Given the description of an element on the screen output the (x, y) to click on. 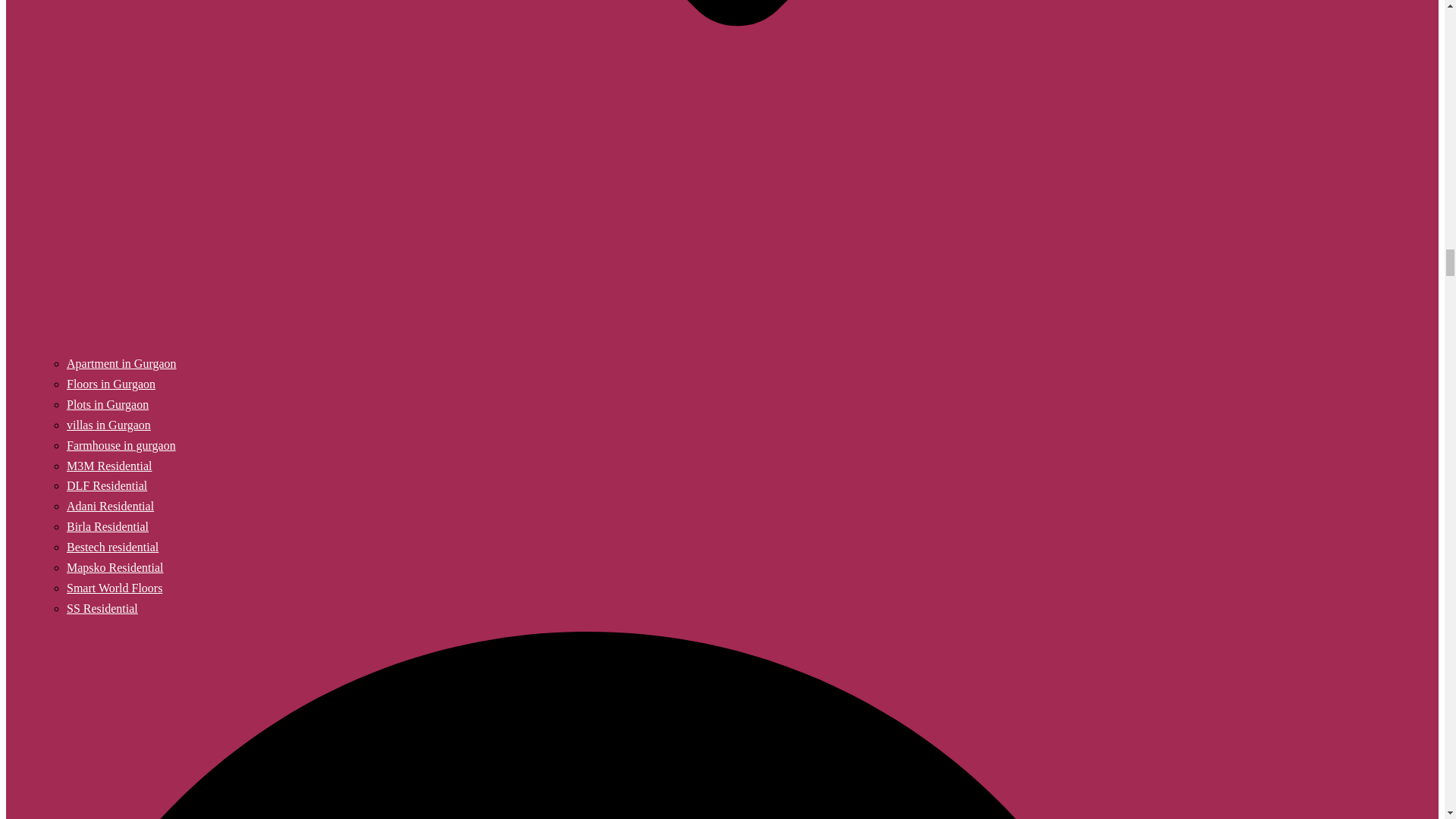
villas in Gurgaon (108, 424)
Farmhouse in gurgaon (121, 445)
M3M Residential (108, 465)
Birla Residential (107, 526)
Bestech residential (112, 546)
Adani Residential (110, 505)
DLF Residential (106, 485)
Floors in Gurgaon (110, 383)
Plots in Gurgaon (107, 404)
Apartment in Gurgaon (121, 363)
